Given the description of an element on the screen output the (x, y) to click on. 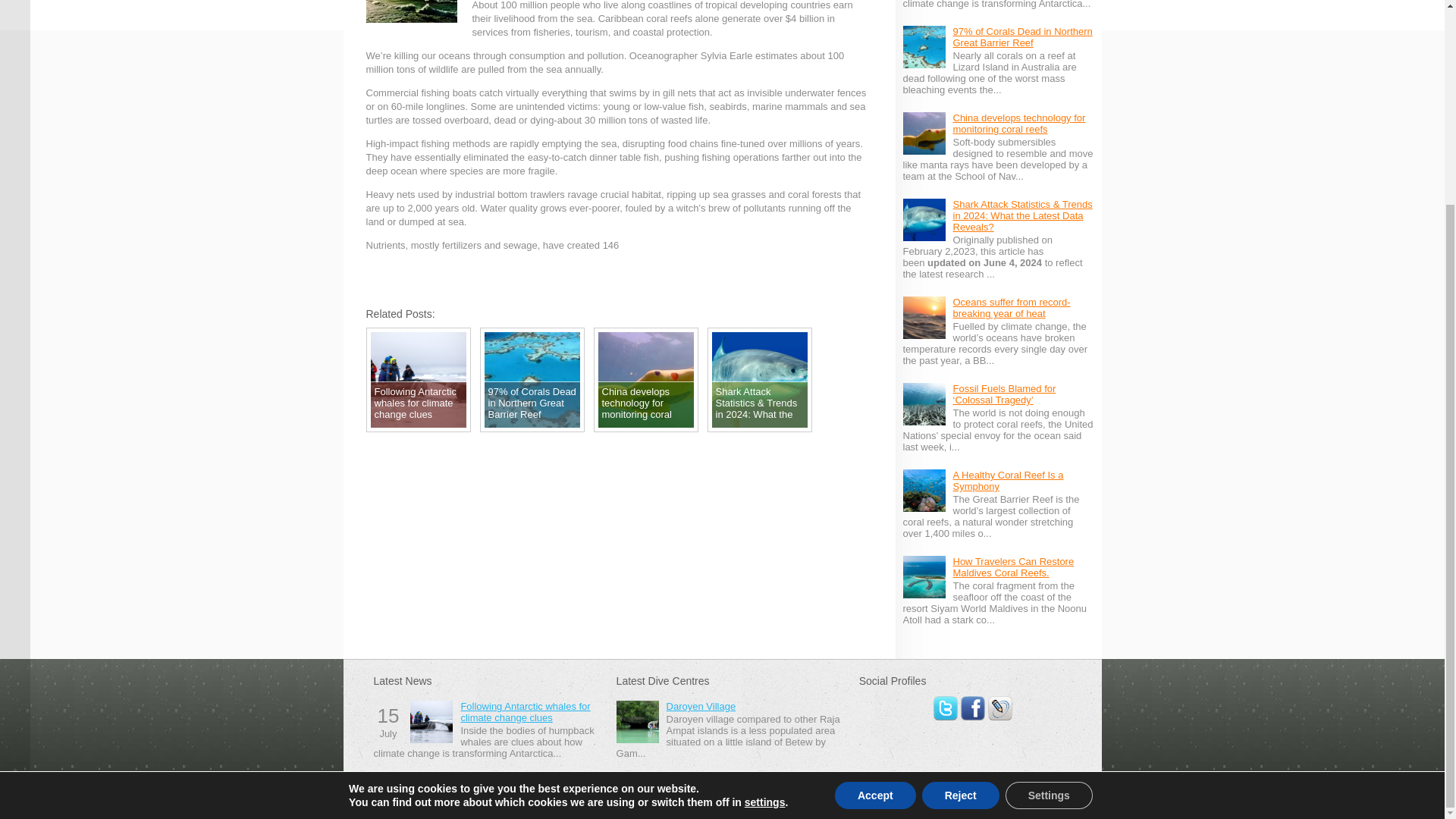
A Healthy Coral Reef Is a Symphony (1007, 480)
Oceans suffer from record-breaking year of heat (1011, 307)
How Travelers Can Restore Maldives Coral Reefs. (1013, 567)
China develops technology for monitoring coral reefs (1018, 123)
